Given the description of an element on the screen output the (x, y) to click on. 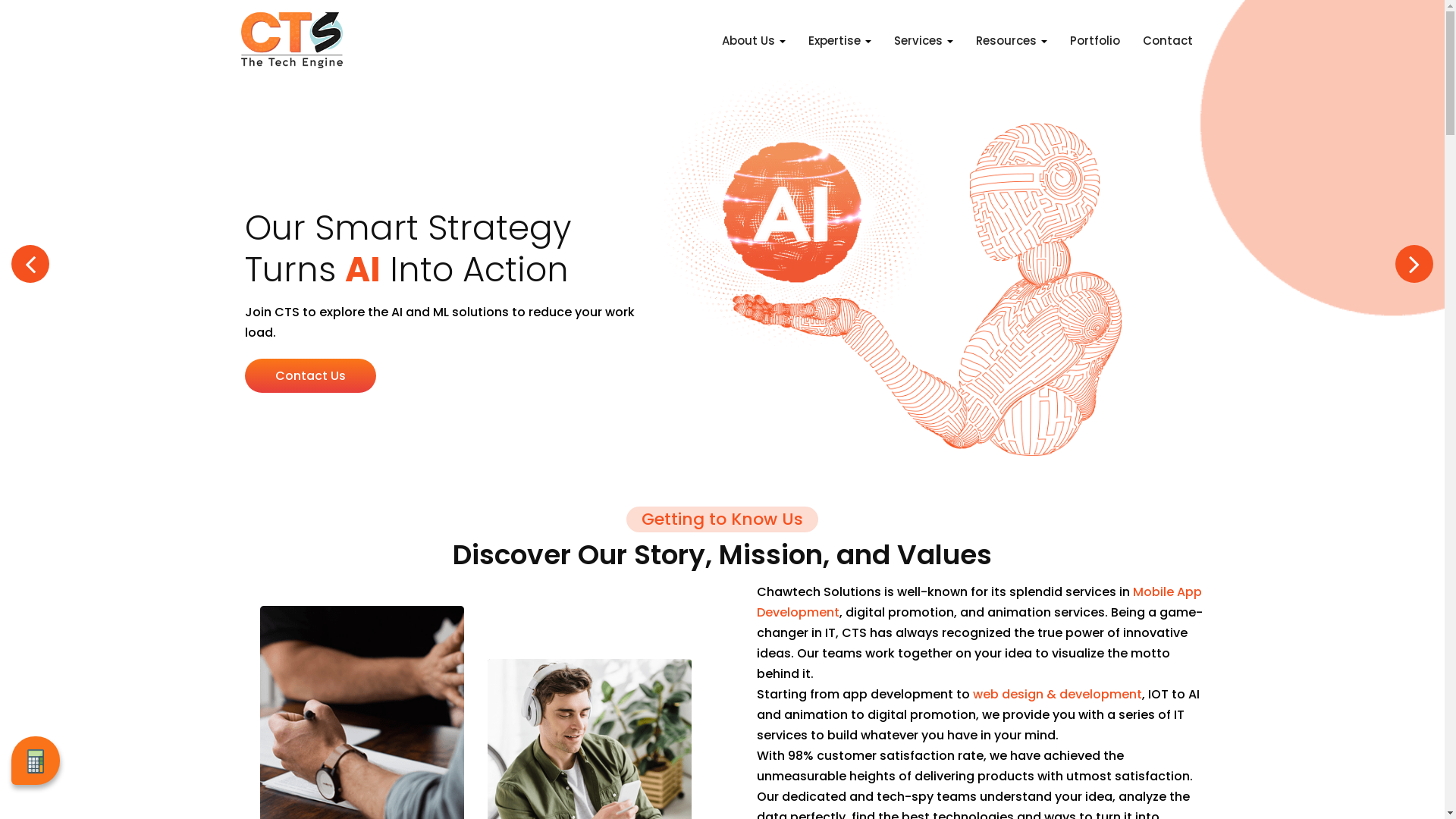
Services Element type: text (922, 49)
web design & development Element type: text (1056, 693)
Previous Element type: text (30, 263)
About Us Element type: text (753, 49)
Portfolio Element type: text (1094, 49)
Resources Element type: text (1010, 49)
Next Element type: text (1414, 263)
Contact Element type: text (1167, 49)
Expertise Element type: text (839, 49)
Mobile App Development Element type: text (978, 602)
Contact Us Element type: text (309, 375)
